Given the description of an element on the screen output the (x, y) to click on. 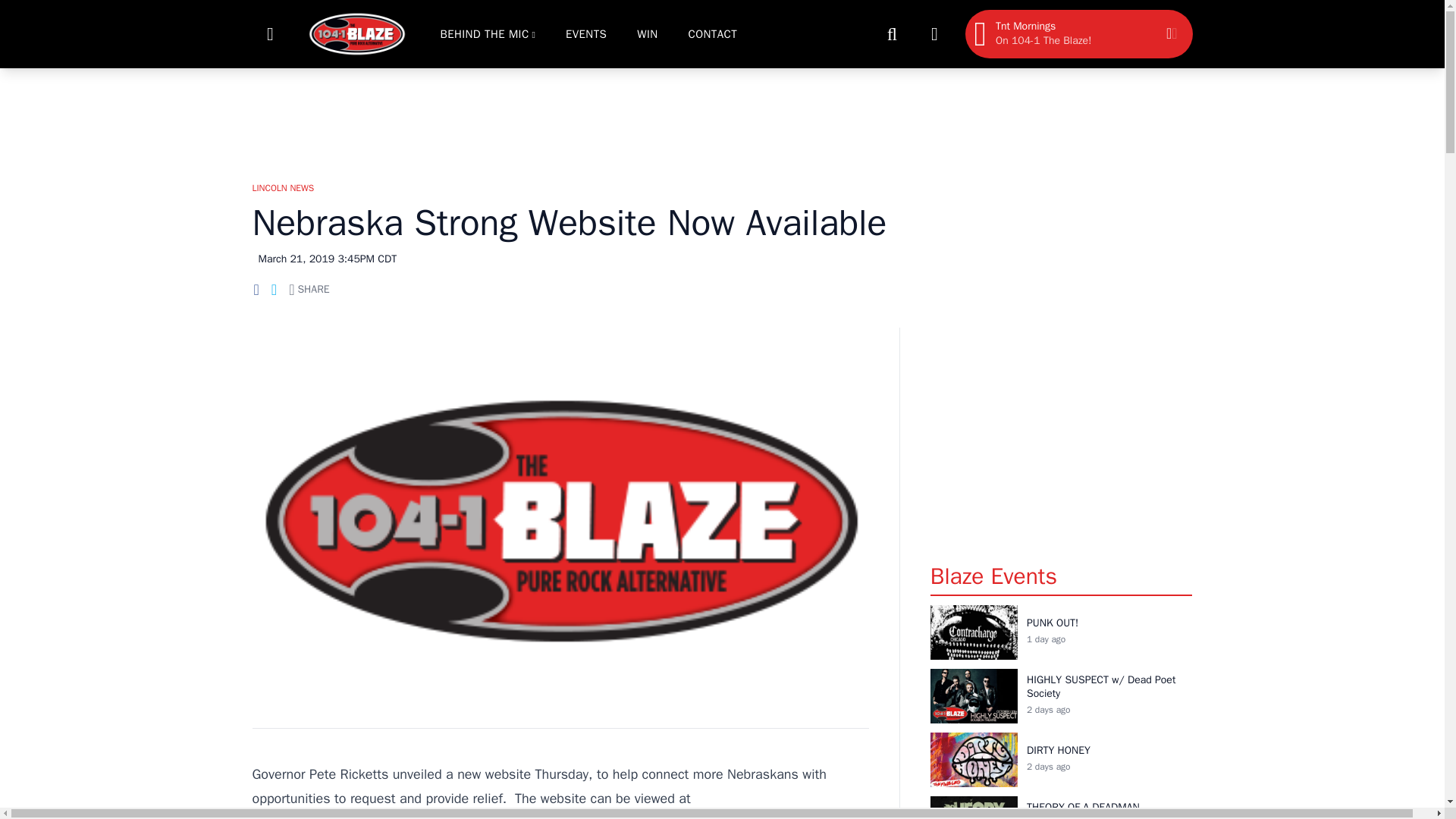
104-1 The Blaze (355, 33)
BEHIND THE MIC (483, 33)
3rd party ad content (1060, 437)
3rd party ad content (721, 117)
